Given the description of an element on the screen output the (x, y) to click on. 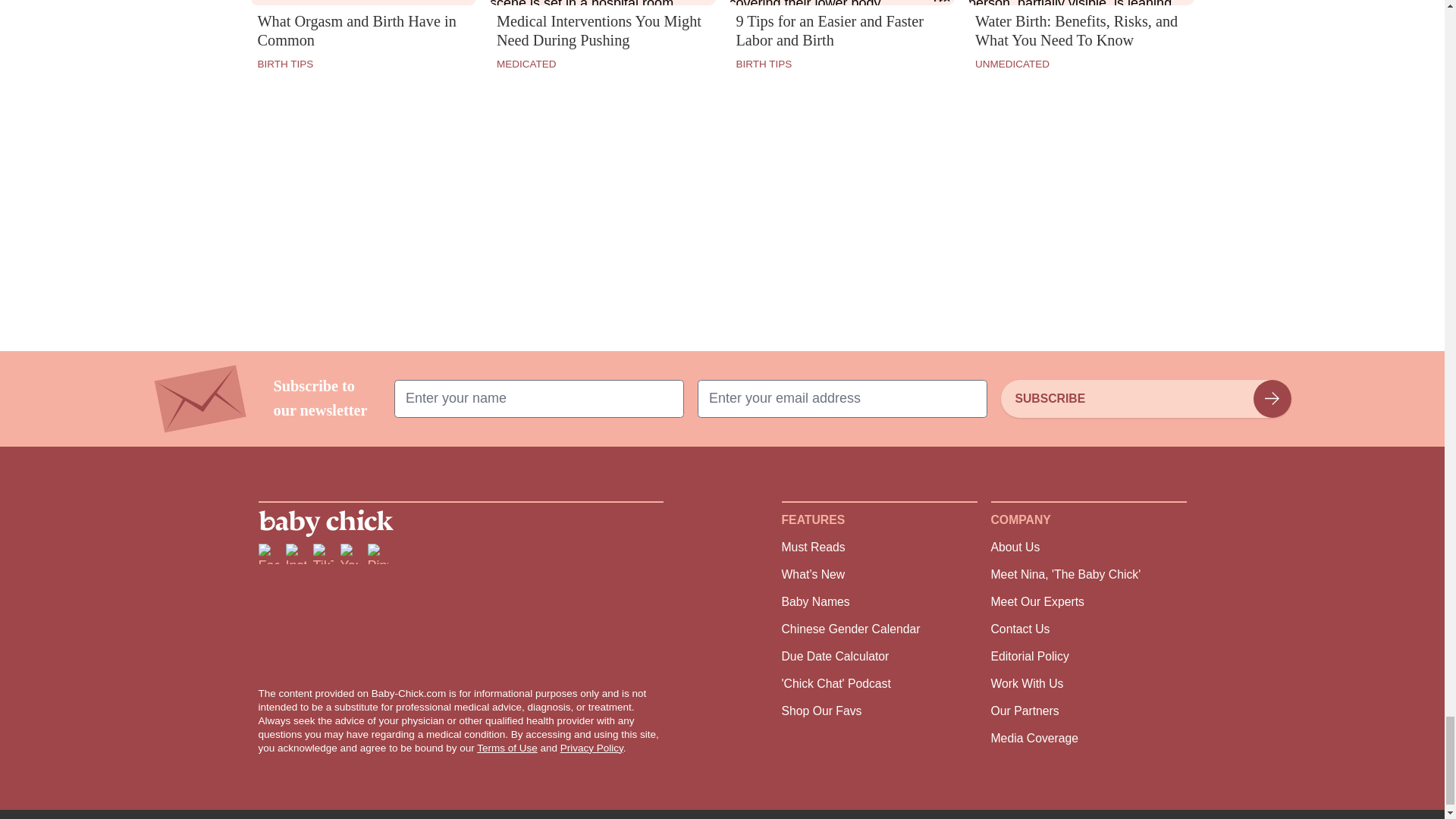
Subscribe (1145, 398)
